Given the description of an element on the screen output the (x, y) to click on. 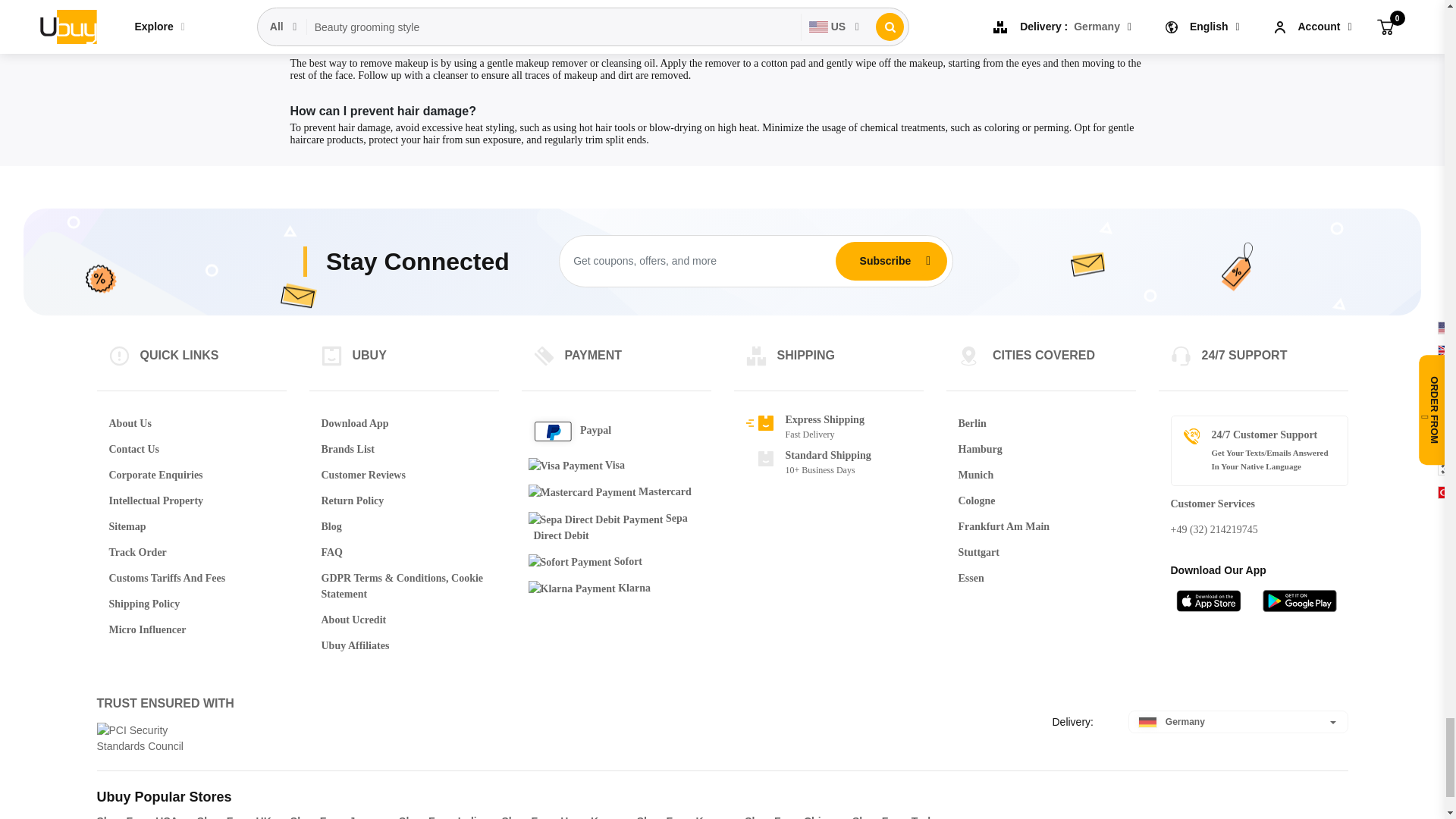
Subscribe (885, 260)
